Given the description of an element on the screen output the (x, y) to click on. 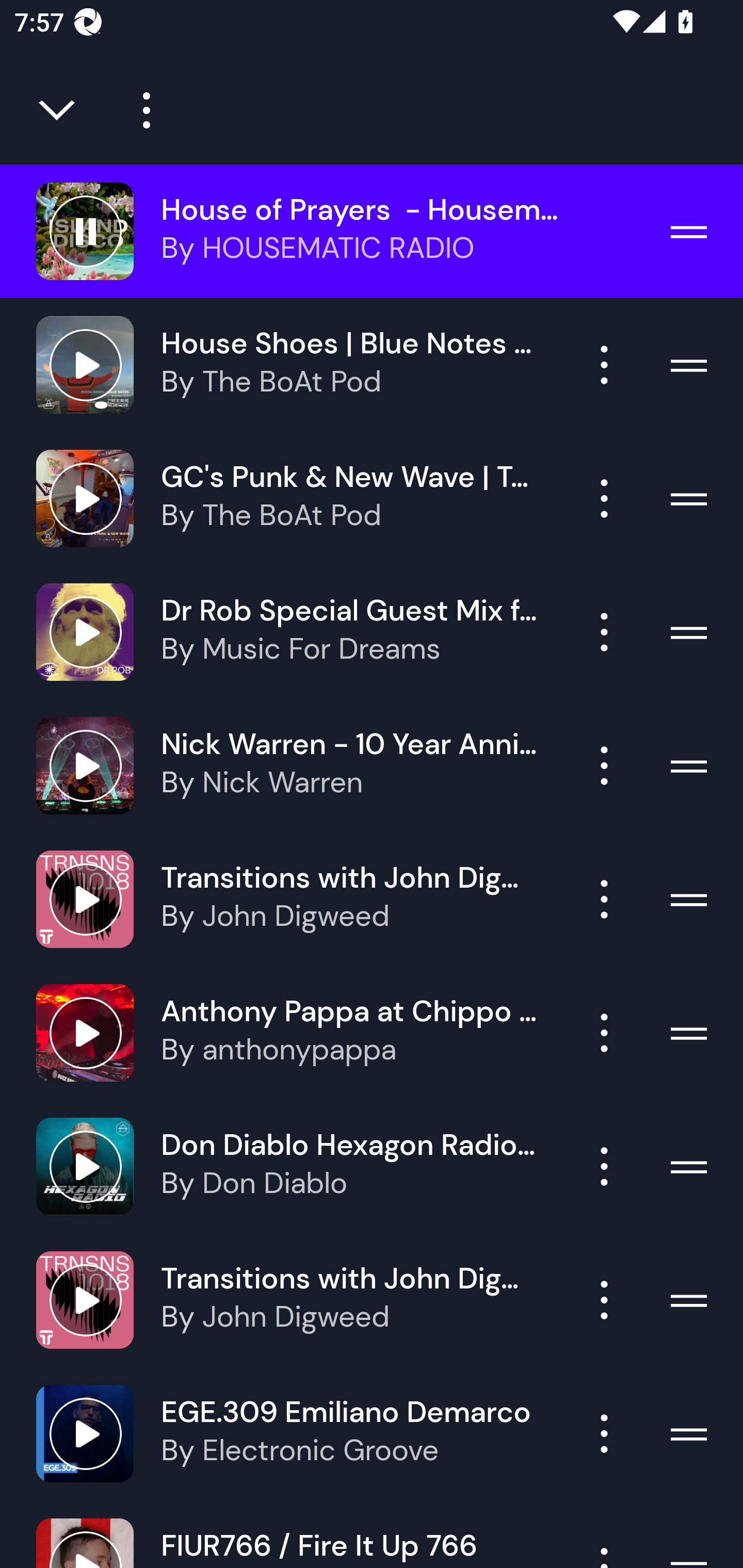
Closes the queue (58, 110)
Queue more options button (139, 110)
Show options button (604, 364)
Show options button (604, 498)
Show options button (604, 631)
Show options button (604, 764)
Show options button (604, 898)
Show options button (604, 1032)
Show options button (604, 1166)
Show options button (604, 1299)
Show options button (604, 1432)
